Given the description of an element on the screen output the (x, y) to click on. 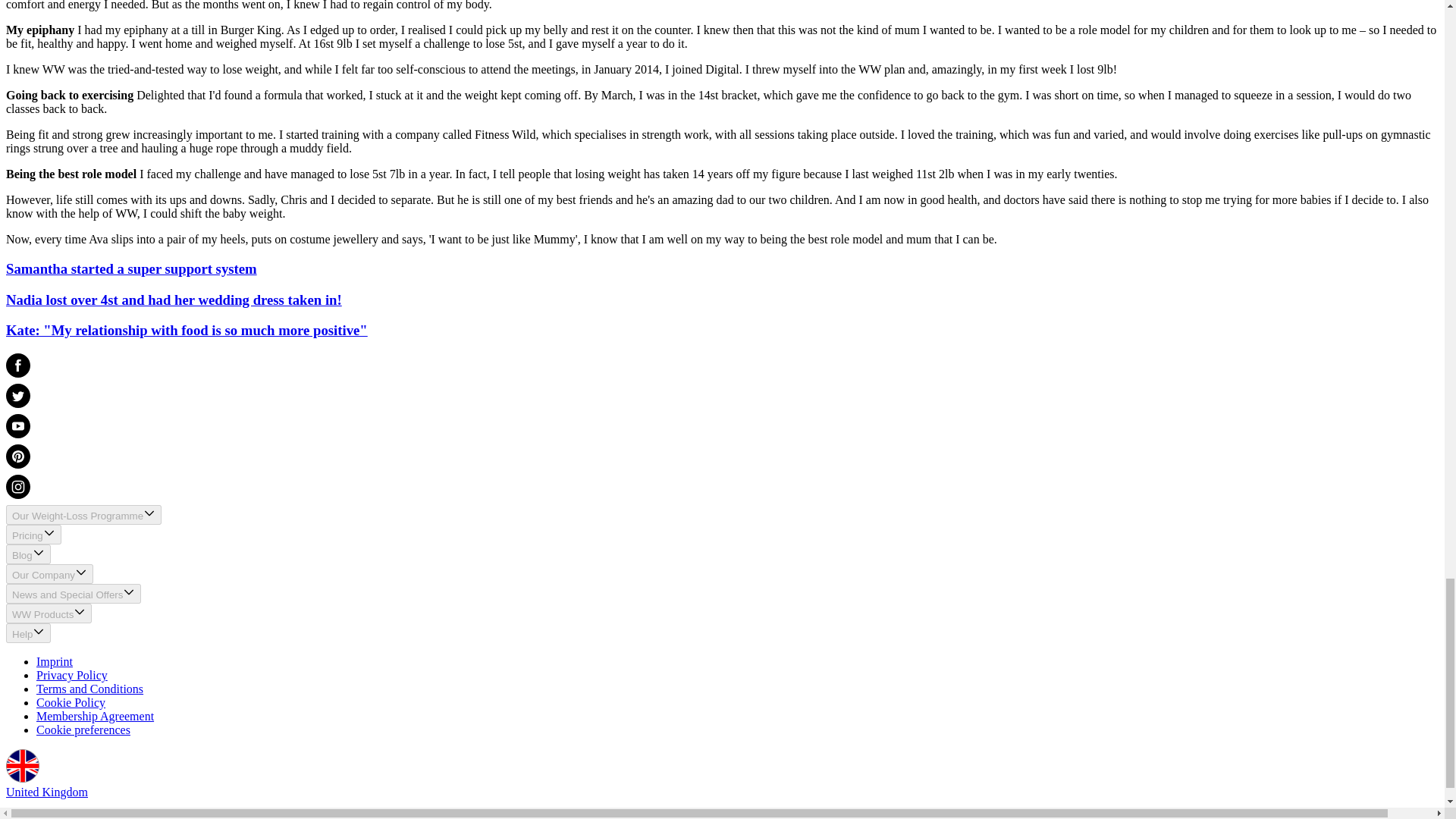
YouTube (721, 429)
Pinterest (721, 459)
Instagram (721, 490)
Twitter (721, 399)
Facebook (721, 368)
